Given the description of an element on the screen output the (x, y) to click on. 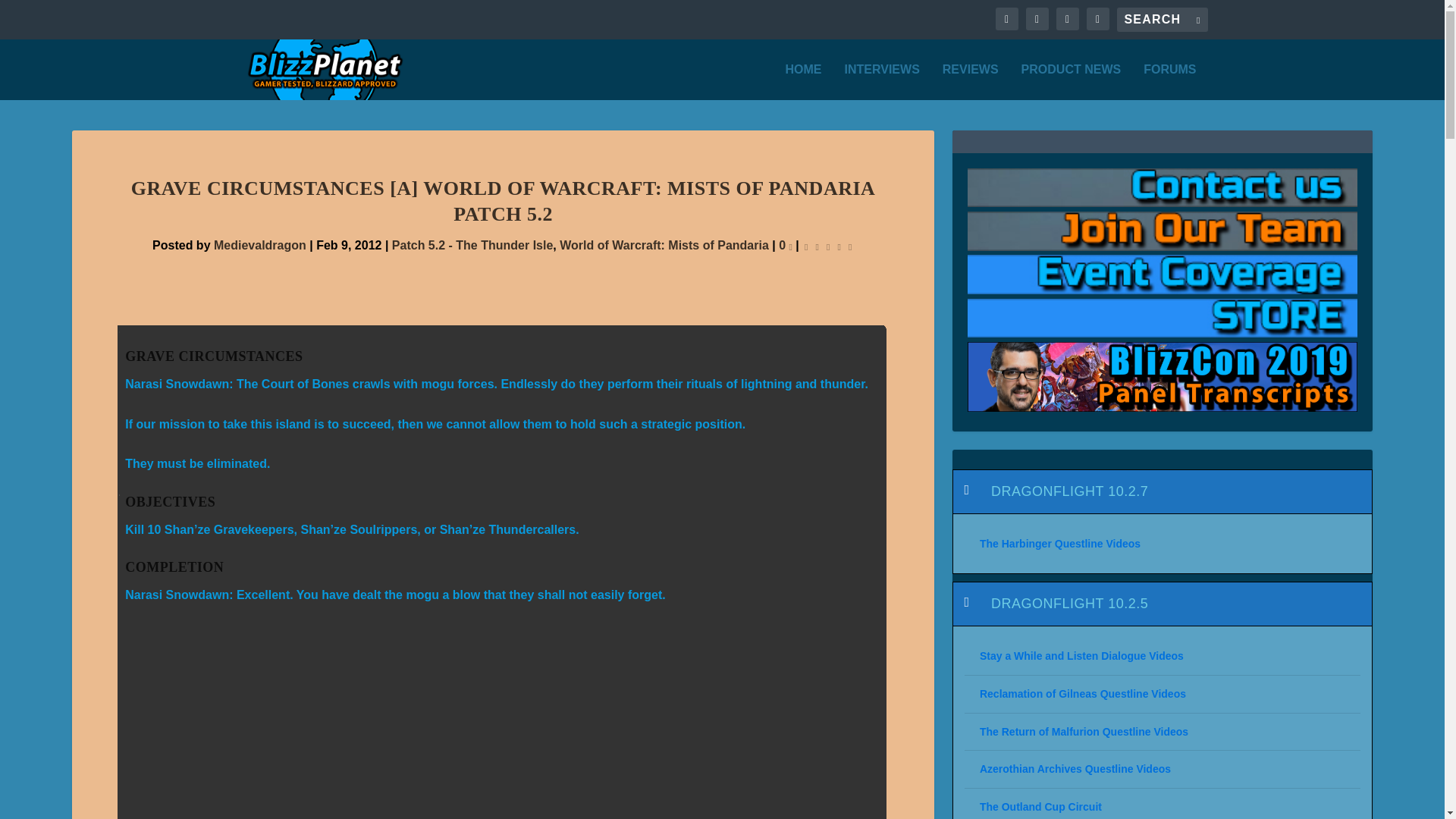
INTERVIEWS (882, 81)
World of Warcraft: Mists of Pandaria (663, 245)
PRODUCT NEWS (1071, 81)
REVIEWS (970, 81)
Posts by Medievaldragon (259, 245)
Medievaldragon (259, 245)
0 (785, 245)
HOME (804, 81)
Patch 5.2 - The Thunder Isle (472, 245)
FORUMS (1168, 81)
Search for: (1161, 19)
Rating: 0.00 (827, 246)
